Given the description of an element on the screen output the (x, y) to click on. 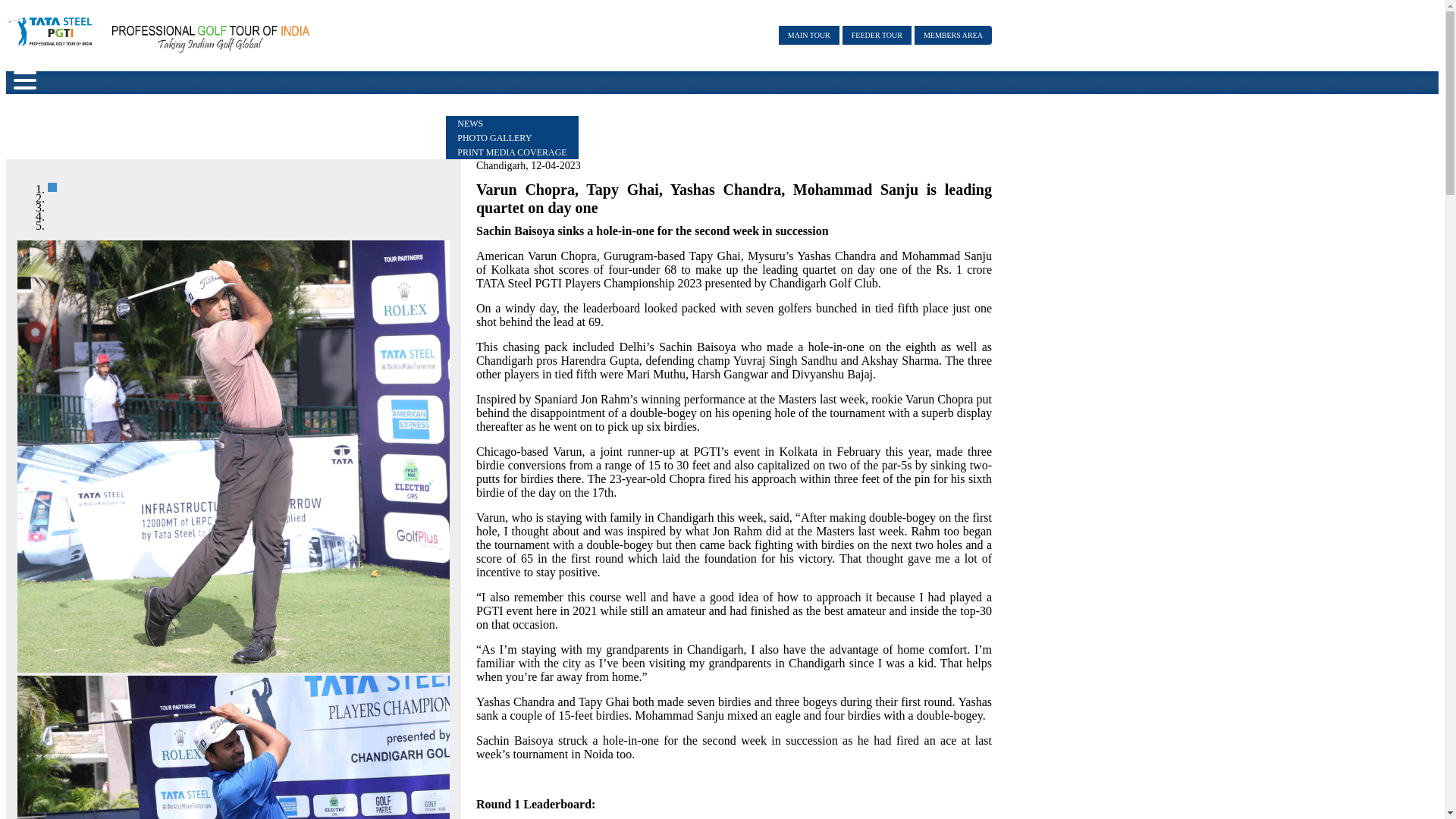
PHOTO GALLERY (494, 137)
FEEDER TOUR (877, 35)
STATS (633, 109)
PRINT MEDIA COVERAGE (511, 152)
MAIN TOUR (809, 35)
PLAYERS (261, 109)
TOURNAMENTS (368, 109)
INDIAN GOLF (729, 109)
MEMBERS AREA (952, 35)
ANTI DOPING (841, 109)
CONTACT US (951, 109)
MEDIA (471, 109)
NEWS (470, 123)
ABOUT US (39, 109)
TOUR PARTNERS (151, 109)
